Given the description of an element on the screen output the (x, y) to click on. 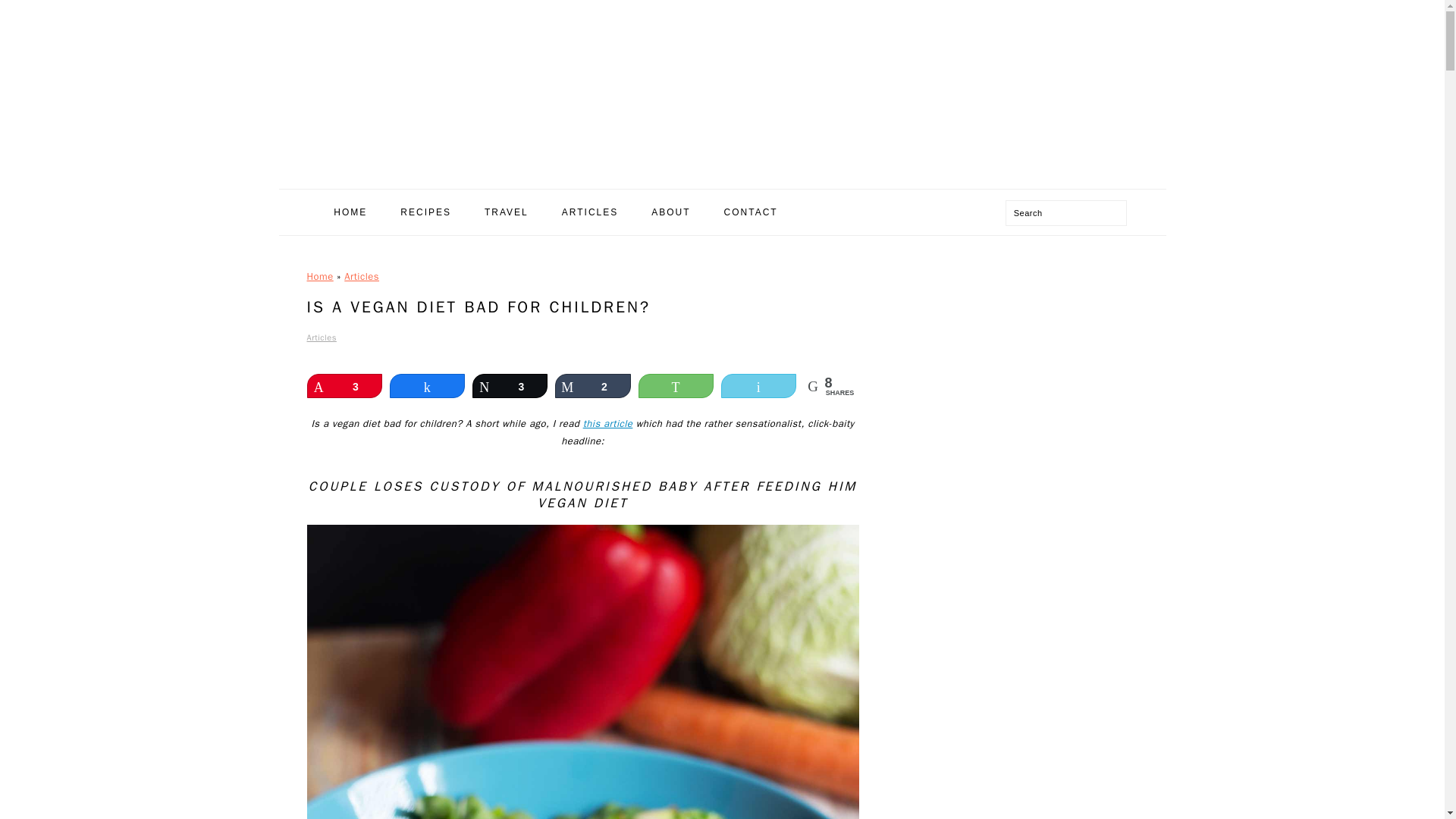
TRAVEL (506, 212)
3 (344, 385)
3 (510, 385)
Articles (360, 276)
CONTACT (750, 212)
Home (319, 276)
ARTICLES (589, 212)
2 (592, 385)
HOME (349, 212)
RECIPES (425, 212)
ABOUT (670, 212)
